Given the description of an element on the screen output the (x, y) to click on. 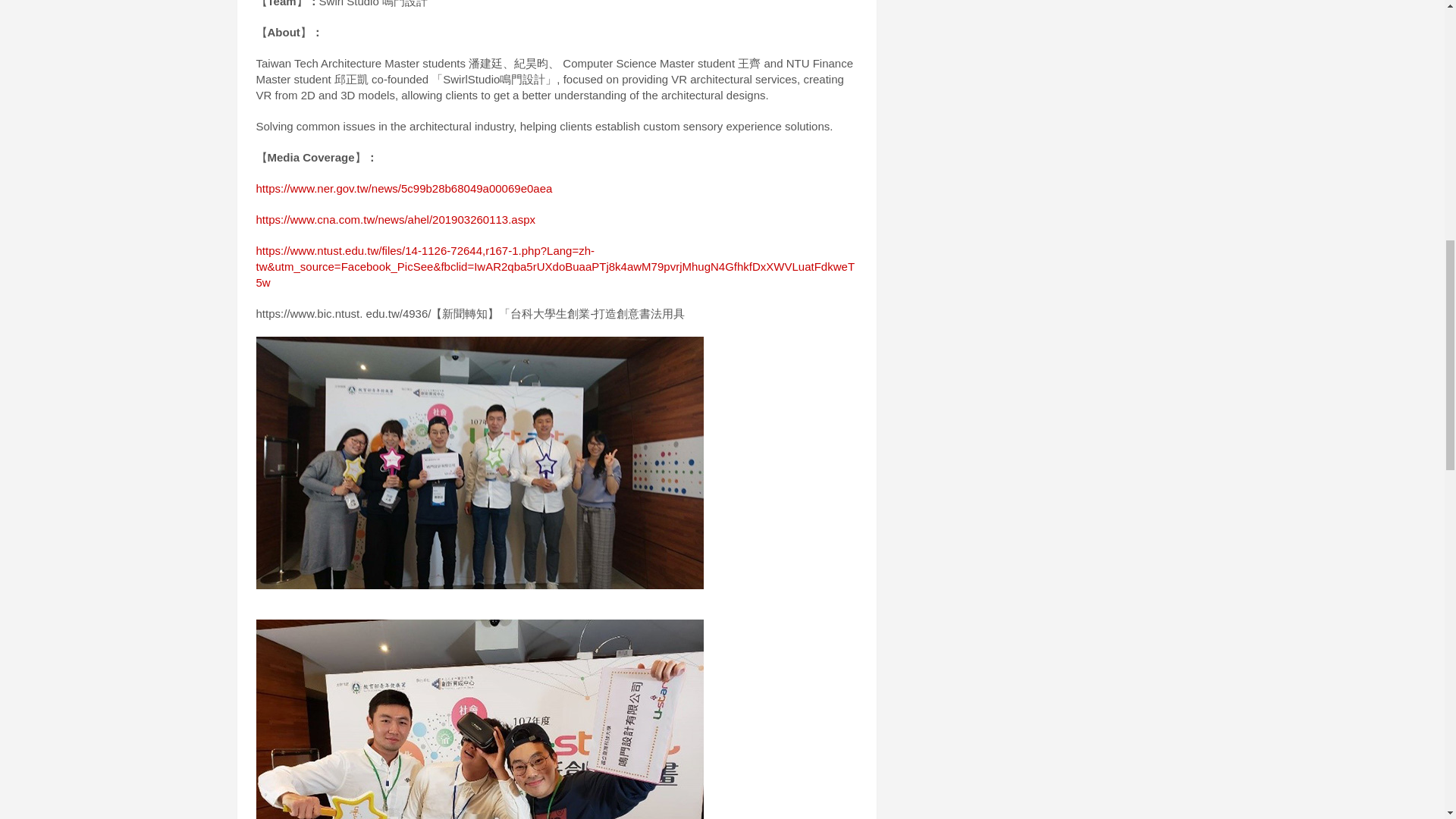
1.photo2-1 (479, 719)
1.photo1-1 (479, 462)
